Given the description of an element on the screen output the (x, y) to click on. 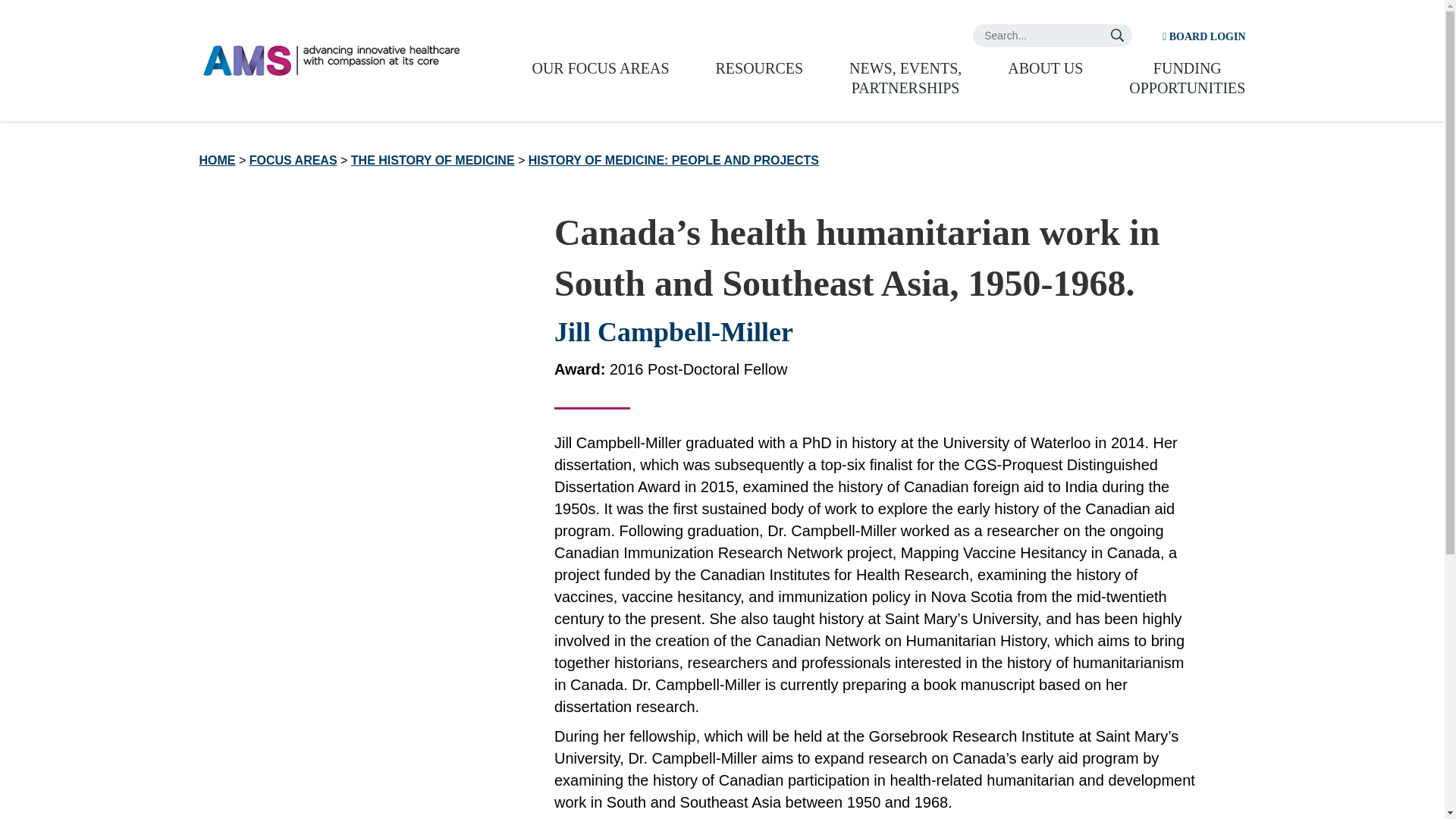
BOARD LOGIN (1202, 35)
HOME (216, 160)
THE HISTORY OF MEDICINE (432, 160)
OUR FOCUS AREAS (599, 66)
RESOURCES (759, 66)
HISTORY OF MEDICINE: PEOPLE AND PROJECTS (673, 160)
FOCUS AREAS (292, 160)
submit (1116, 35)
ABOUT US (904, 77)
submit (1045, 66)
